Given the description of an element on the screen output the (x, y) to click on. 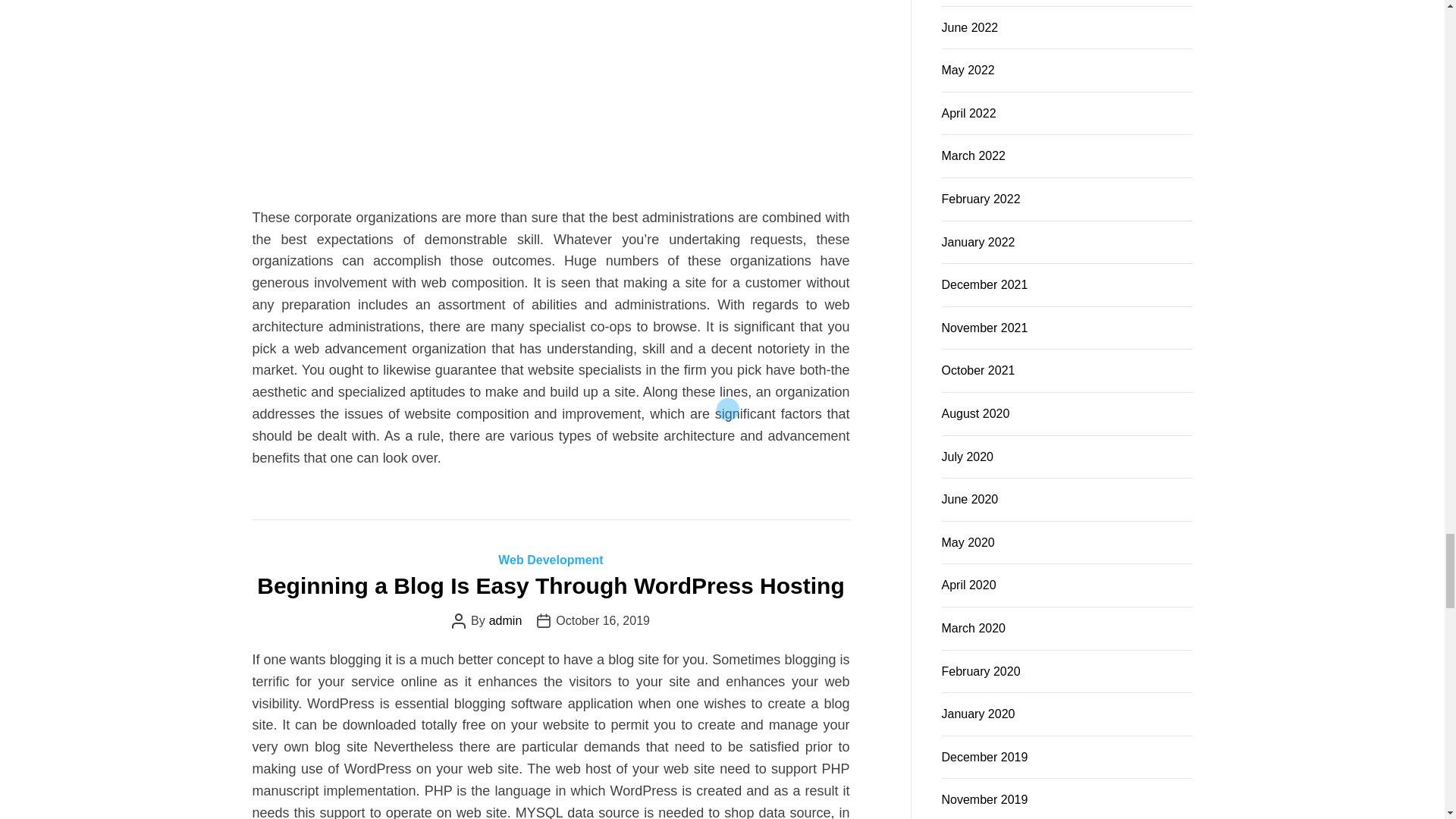
Web Development (549, 559)
admin (505, 621)
Beginning a Blog Is Easy Through WordPress Hosting (550, 585)
